Given the description of an element on the screen output the (x, y) to click on. 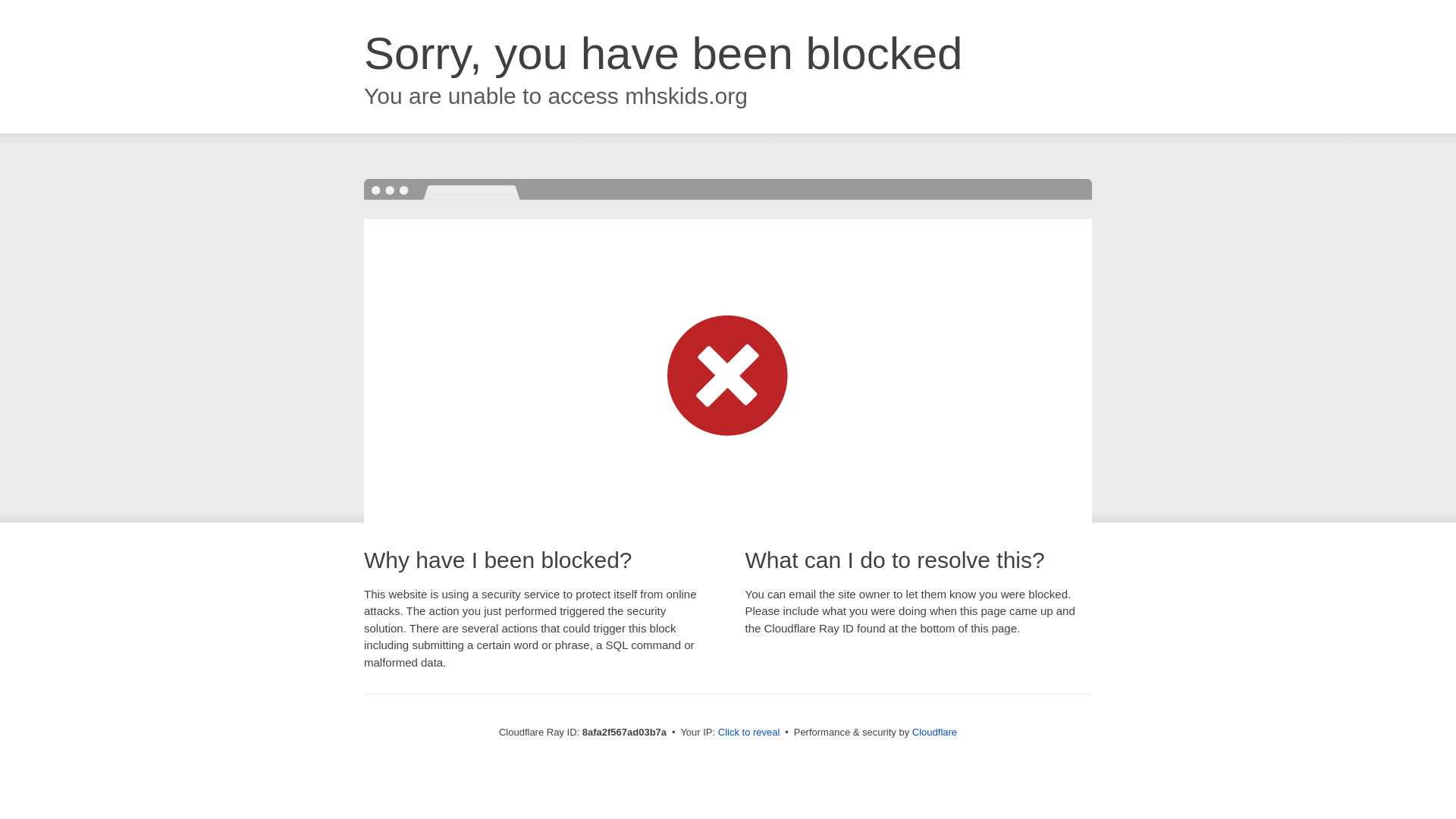
Click to reveal (748, 732)
Cloudflare (934, 731)
